Given the description of an element on the screen output the (x, y) to click on. 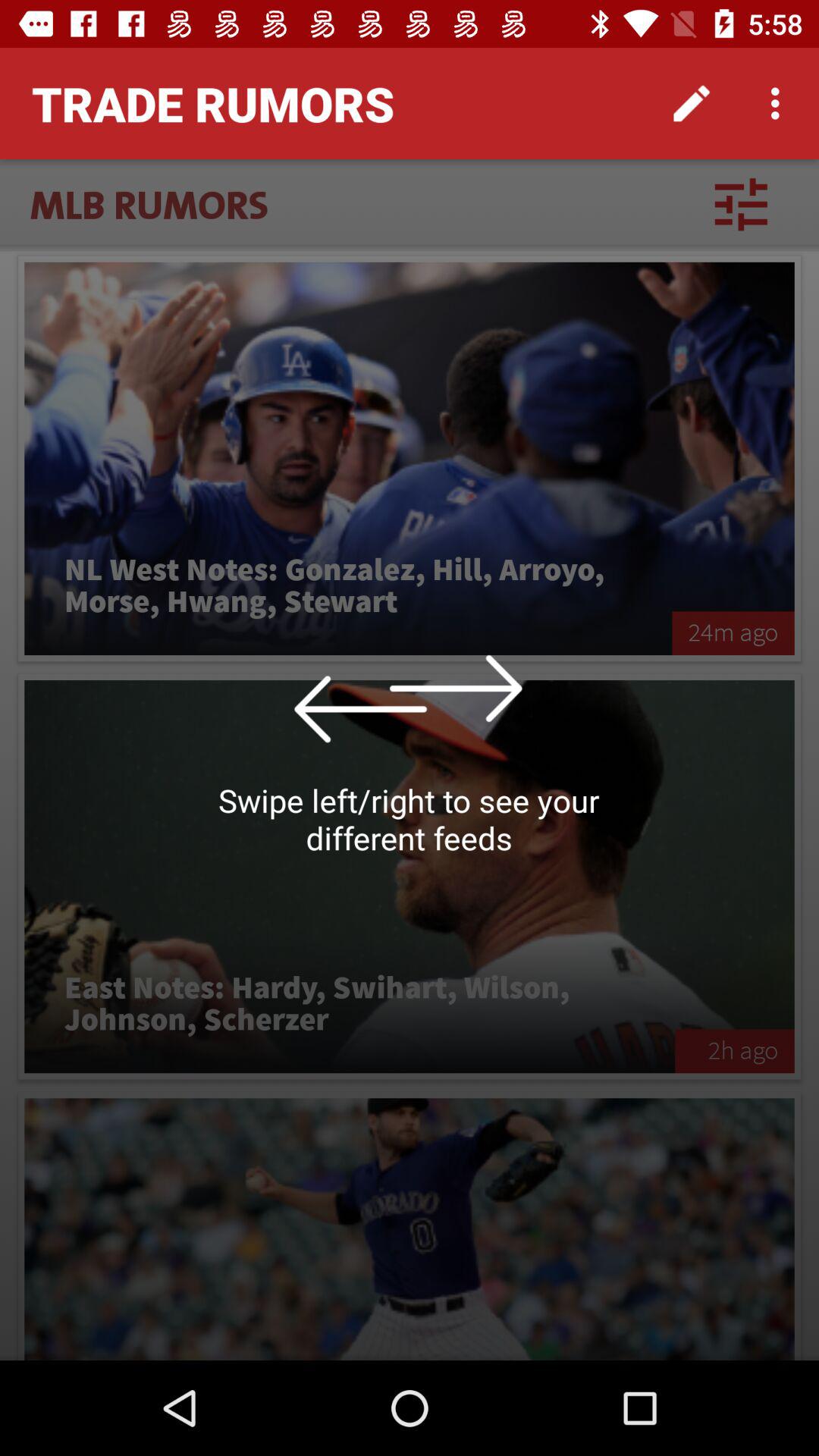
turn off the item to the right of east notes hardy (734, 1051)
